Given the description of an element on the screen output the (x, y) to click on. 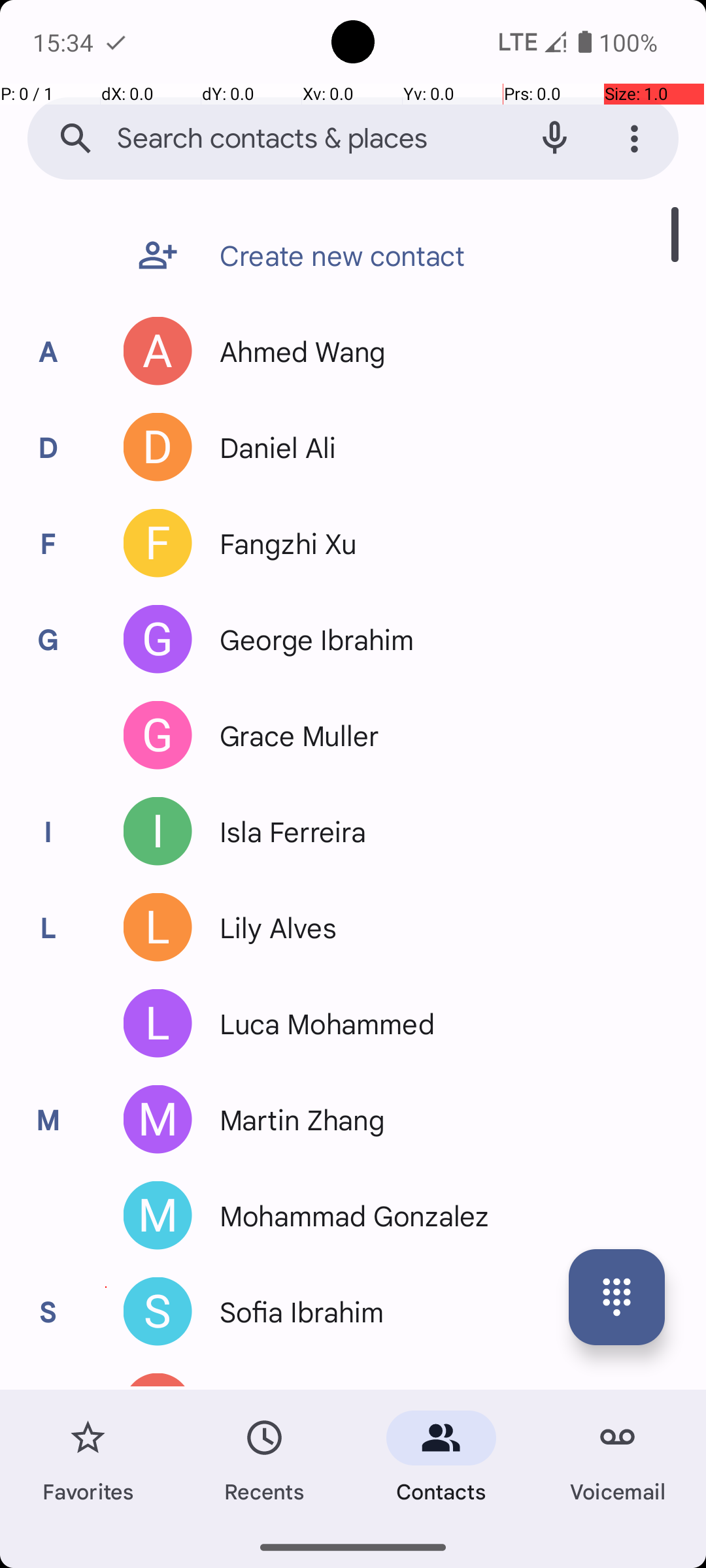
key pad Element type: android.widget.ImageButton (616, 1297)
Voicemail Element type: android.widget.FrameLayout (617, 1457)
Quick contact for Ahmed Wang Element type: android.widget.QuickContactBadge (157, 350)
Ahmed Wang Element type: android.widget.TextView (296, 350)
Quick contact for Daniel Ali Element type: android.widget.QuickContactBadge (157, 446)
Daniel Ali Element type: android.widget.TextView (270, 446)
Quick contact for Fangzhi Xu Element type: android.widget.QuickContactBadge (157, 542)
Quick contact for George Ibrahim Element type: android.widget.QuickContactBadge (157, 638)
George Ibrahim Element type: android.widget.TextView (310, 638)
Quick contact for Grace Muller Element type: android.widget.QuickContactBadge (157, 735)
Grace Muller Element type: android.widget.TextView (292, 735)
Quick contact for Isla Ferreira Element type: android.widget.QuickContactBadge (157, 831)
Isla Ferreira Element type: android.widget.TextView (286, 831)
Quick contact for Lily Alves Element type: android.widget.QuickContactBadge (157, 927)
Lily Alves Element type: android.widget.TextView (271, 927)
Quick contact for Luca Mohammed Element type: android.widget.QuickContactBadge (157, 1023)
Luca Mohammed Element type: android.widget.TextView (320, 1023)
Quick contact for Martin Zhang Element type: android.widget.QuickContactBadge (157, 1119)
Martin Zhang Element type: android.widget.TextView (295, 1119)
Quick contact for Mohammad Gonzalez Element type: android.widget.QuickContactBadge (157, 1215)
Mohammad Gonzalez Element type: android.widget.TextView (347, 1215)
Quick contact for Sofia Ibrahim Element type: android.widget.QuickContactBadge (157, 1311)
Sofia Ibrahim Element type: android.widget.TextView (294, 1311)
Quick contact for Sophia Hernandez Element type: android.widget.QuickContactBadge (157, 1379)
Sophia Hernandez Element type: android.widget.TextView (327, 1379)
